Given the description of an element on the screen output the (x, y) to click on. 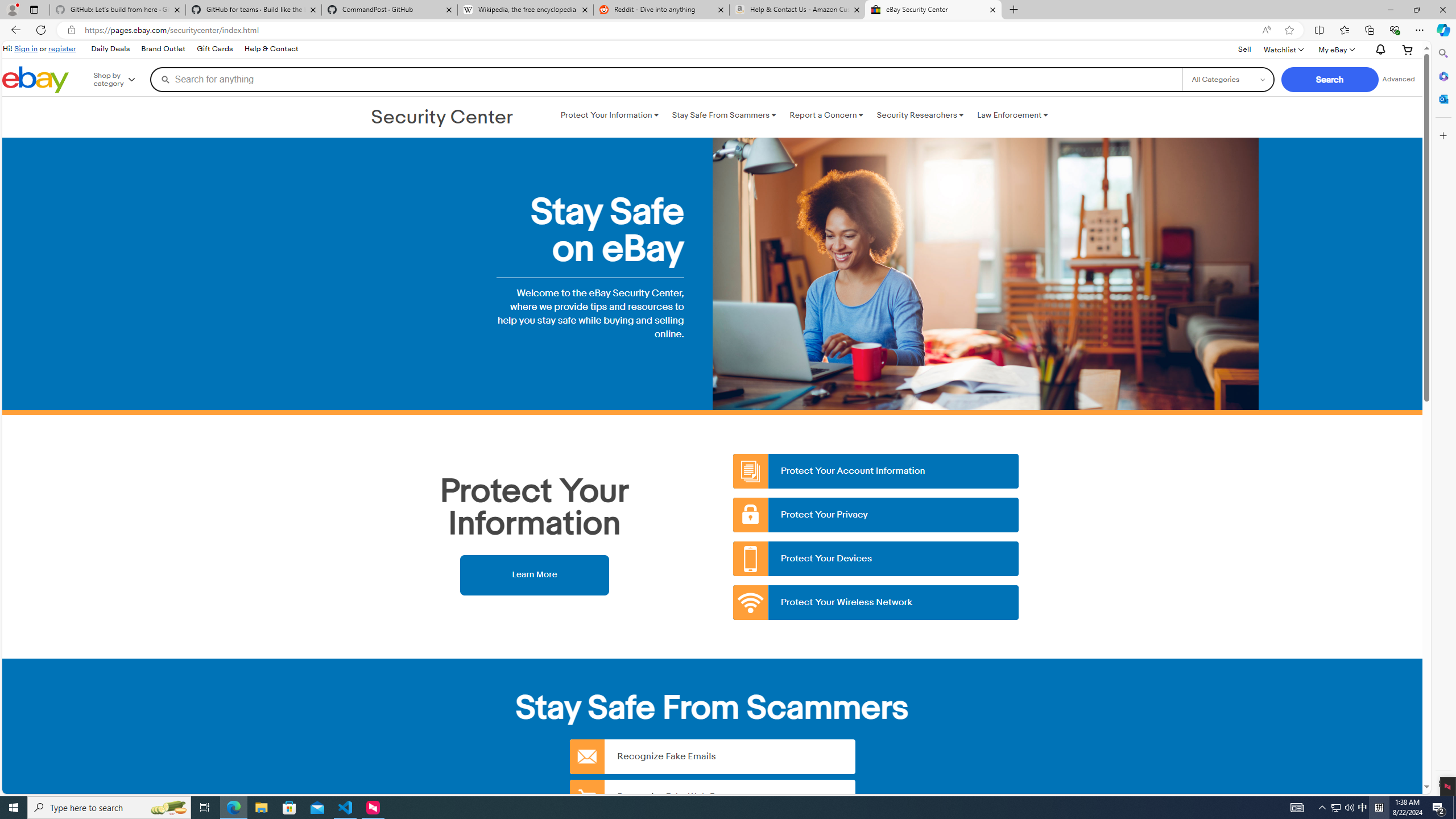
Search for anything (665, 78)
WatchlistExpand Watch List (1282, 49)
eBay Security Center (933, 9)
Expand Cart (1407, 49)
Recognize Fake Emails (712, 756)
Side bar (1443, 418)
Gift Cards (214, 49)
register (61, 48)
Report a Concern  (826, 115)
